Given the description of an element on the screen output the (x, y) to click on. 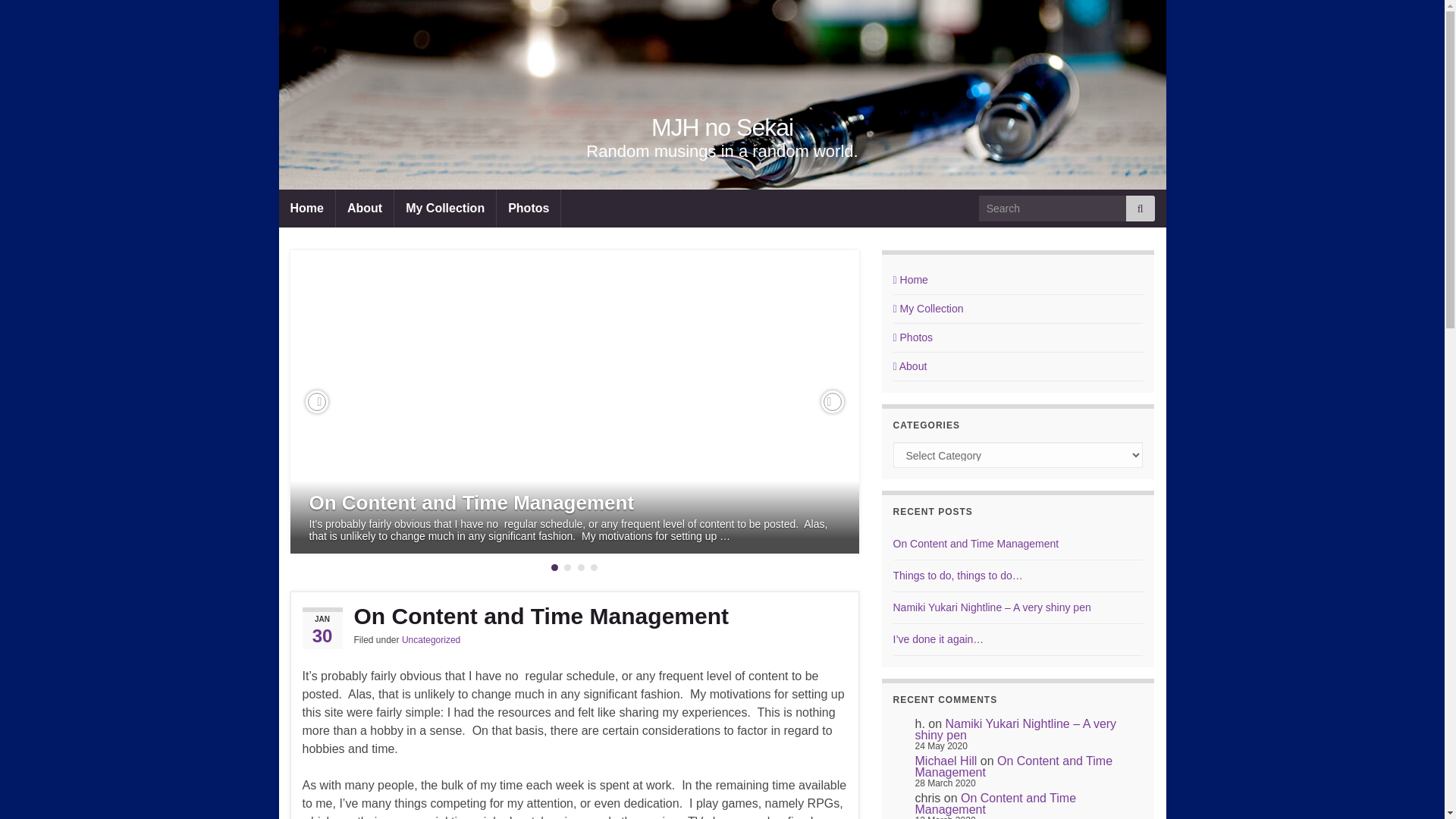
On Content and Time Management (573, 616)
My Collection (928, 308)
My Collection (445, 208)
Next (832, 401)
Previous (315, 401)
Permalink to On Content and Time Management (573, 616)
Photos (528, 208)
Photos (913, 337)
On Content and Time Management (471, 502)
About (910, 366)
